Given the description of an element on the screen output the (x, y) to click on. 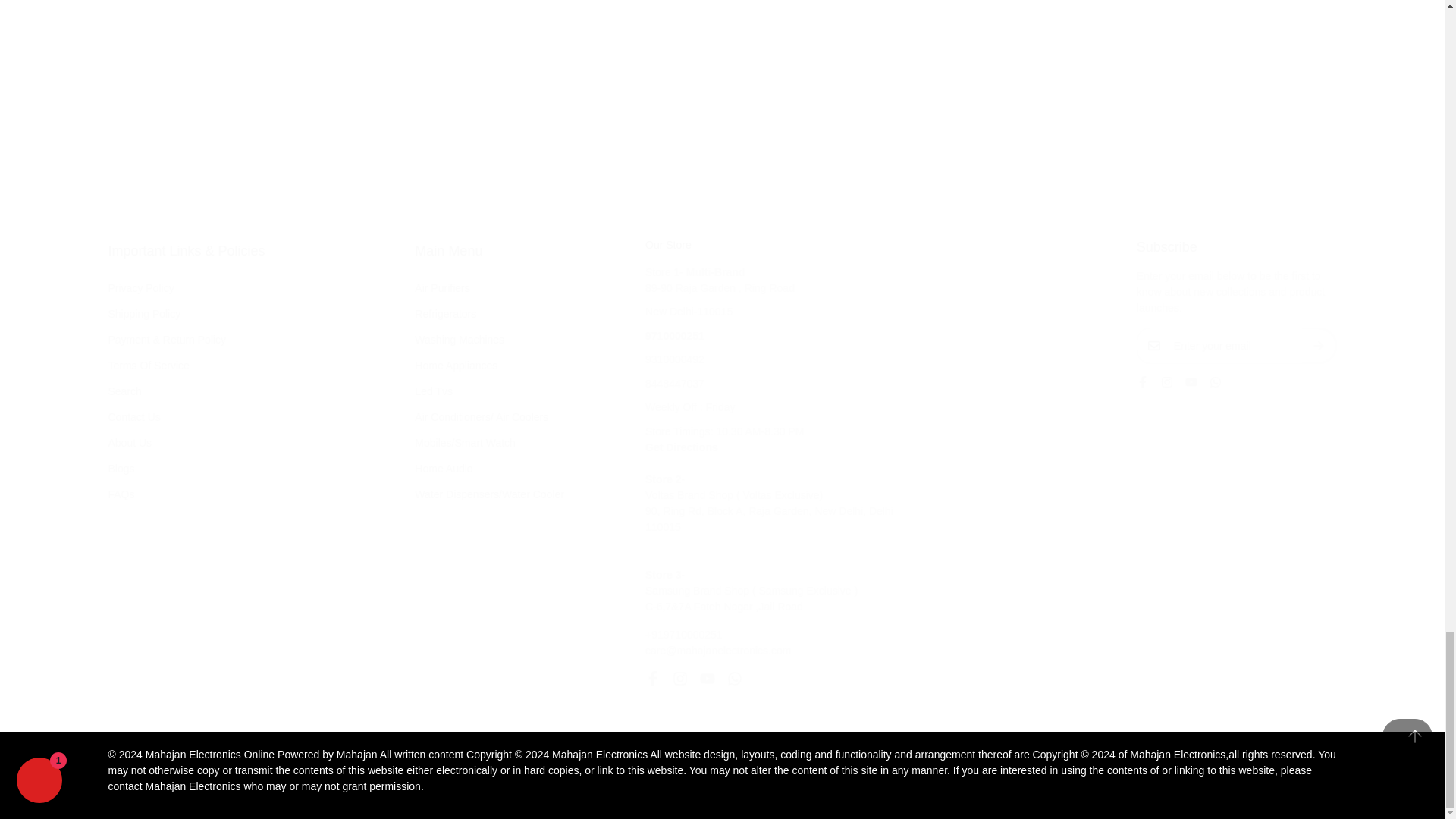
5 Best 2 Ton Split AC in India 2024 (321, 55)
